Given the description of an element on the screen output the (x, y) to click on. 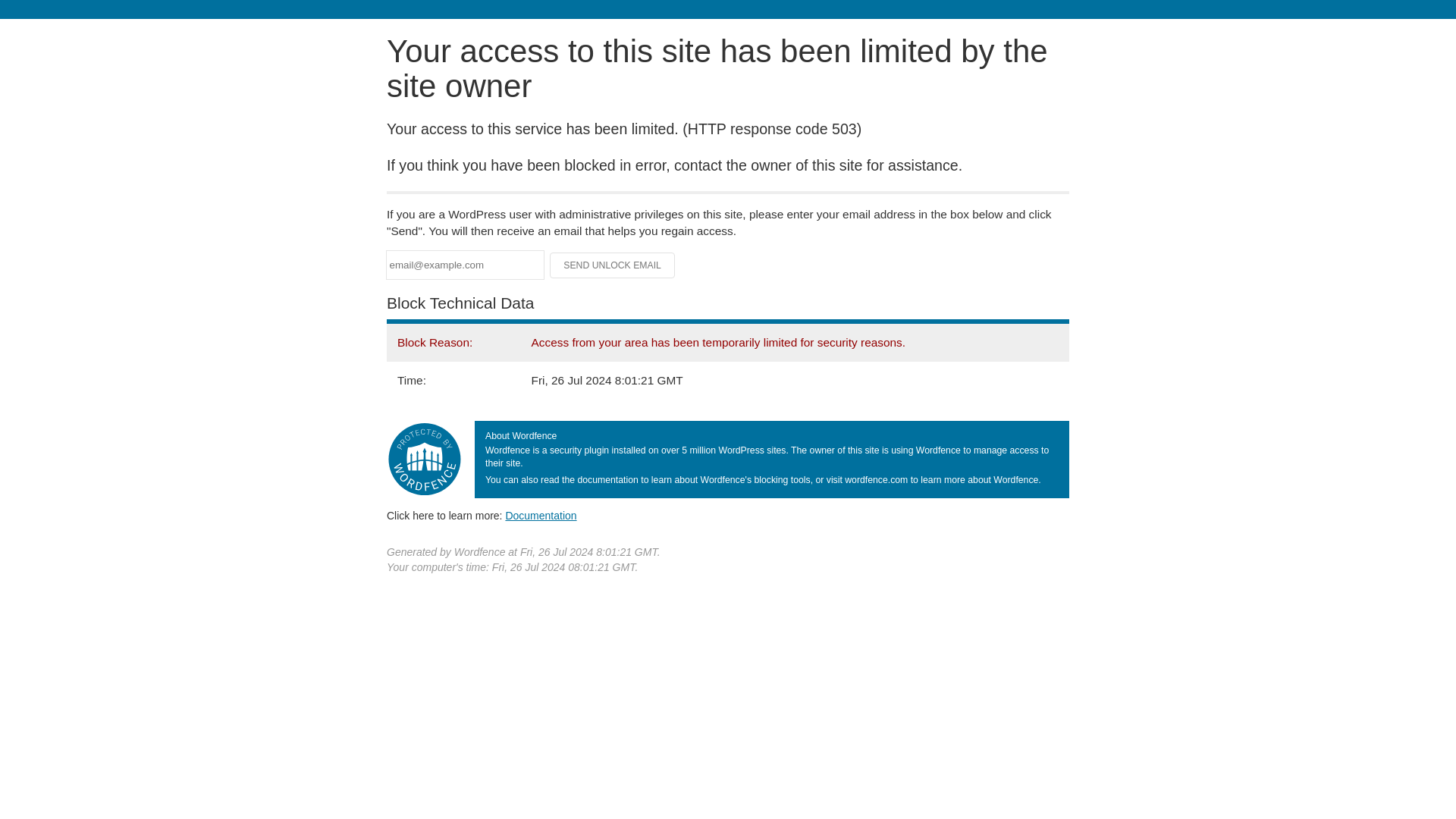
Send Unlock Email (612, 265)
Documentation (540, 515)
Send Unlock Email (612, 265)
